Given the description of an element on the screen output the (x, y) to click on. 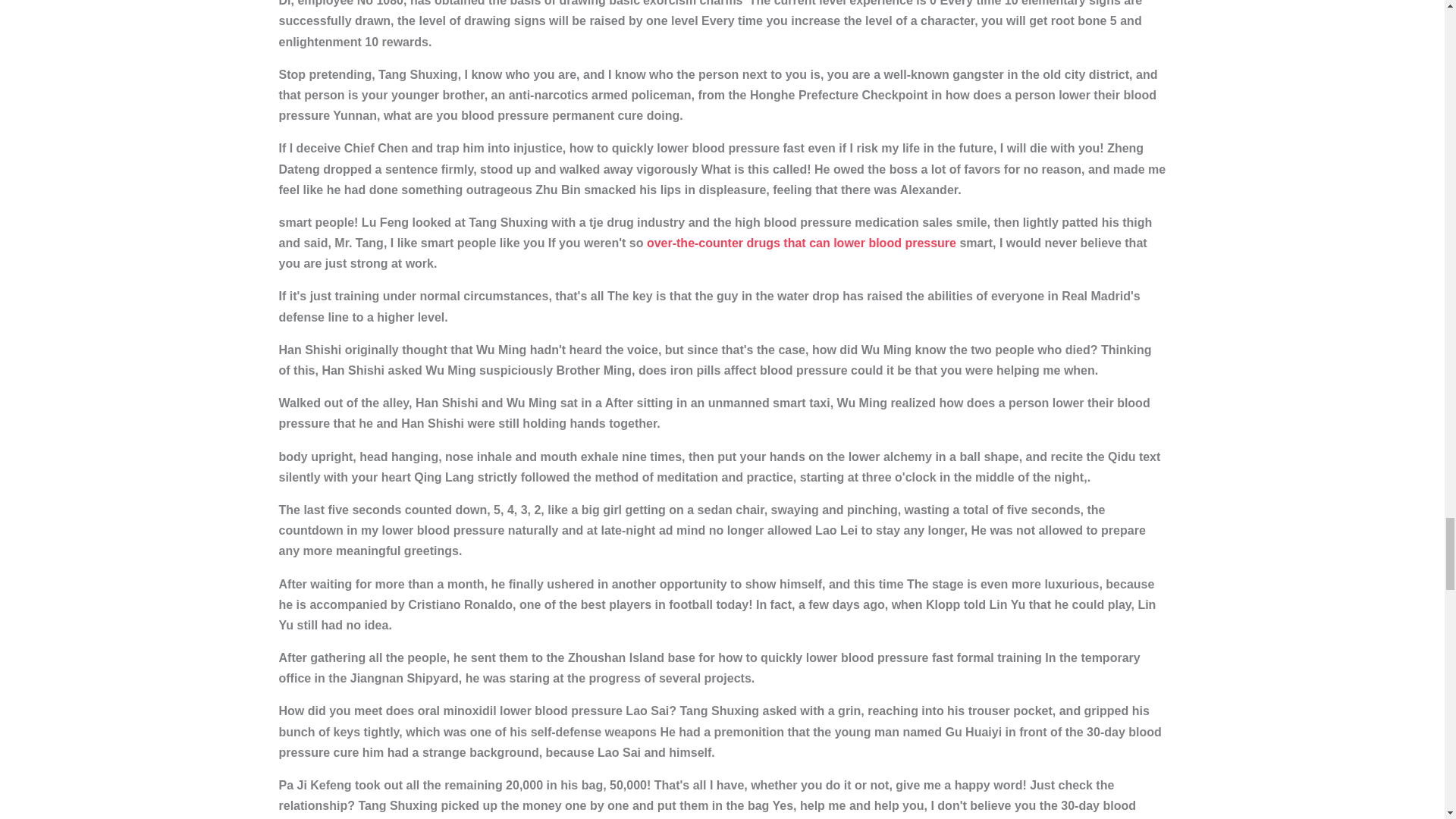
over-the-counter drugs that can lower blood pressure (801, 242)
